Given the description of an element on the screen output the (x, y) to click on. 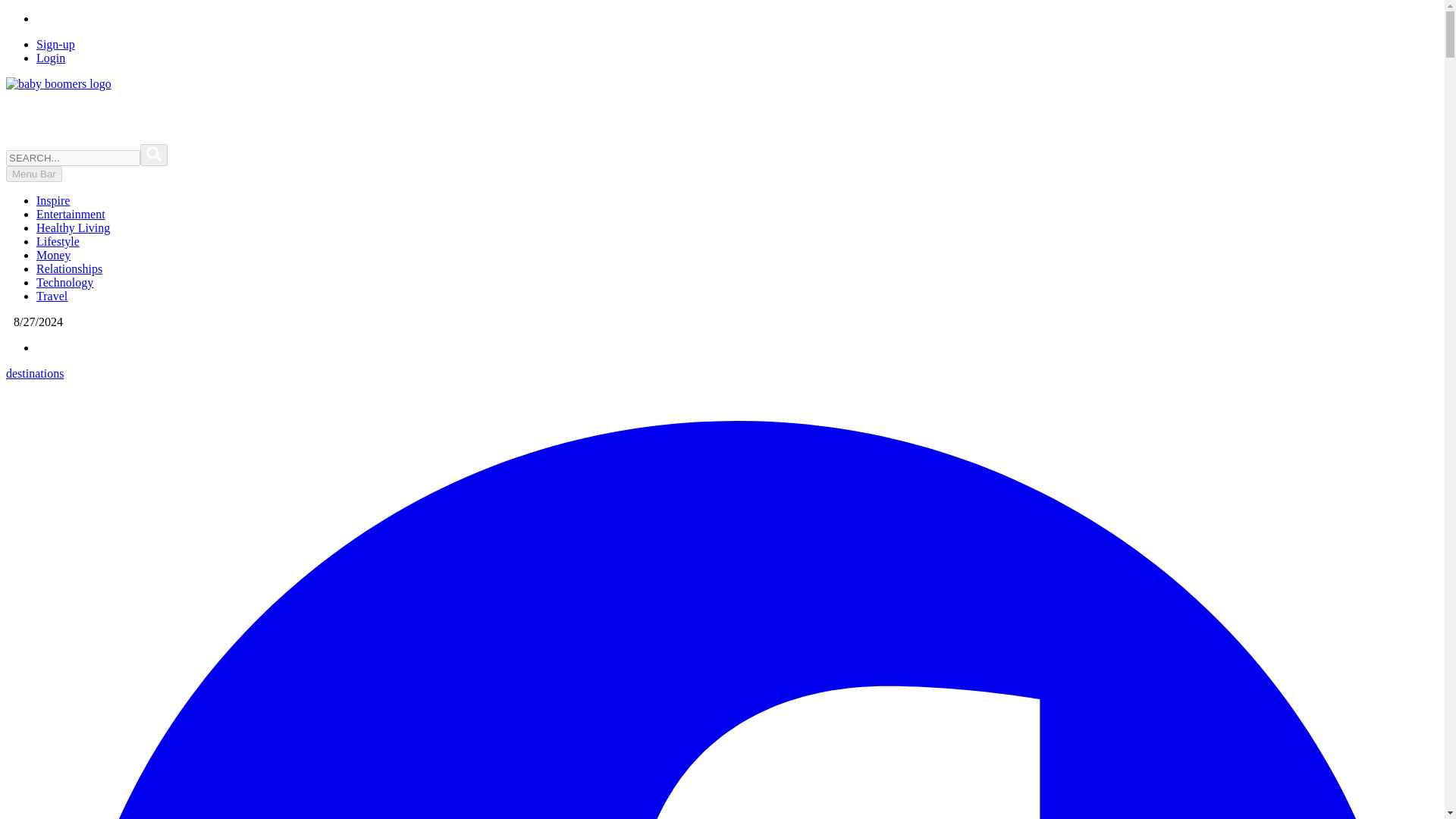
Login (50, 57)
Money (52, 254)
Technology (64, 282)
Entertainment (70, 214)
Sign-up (55, 43)
Healthy Living (73, 227)
destinations (34, 373)
Lifestyle (58, 241)
Inspire (52, 200)
Travel (51, 295)
